Given the description of an element on the screen output the (x, y) to click on. 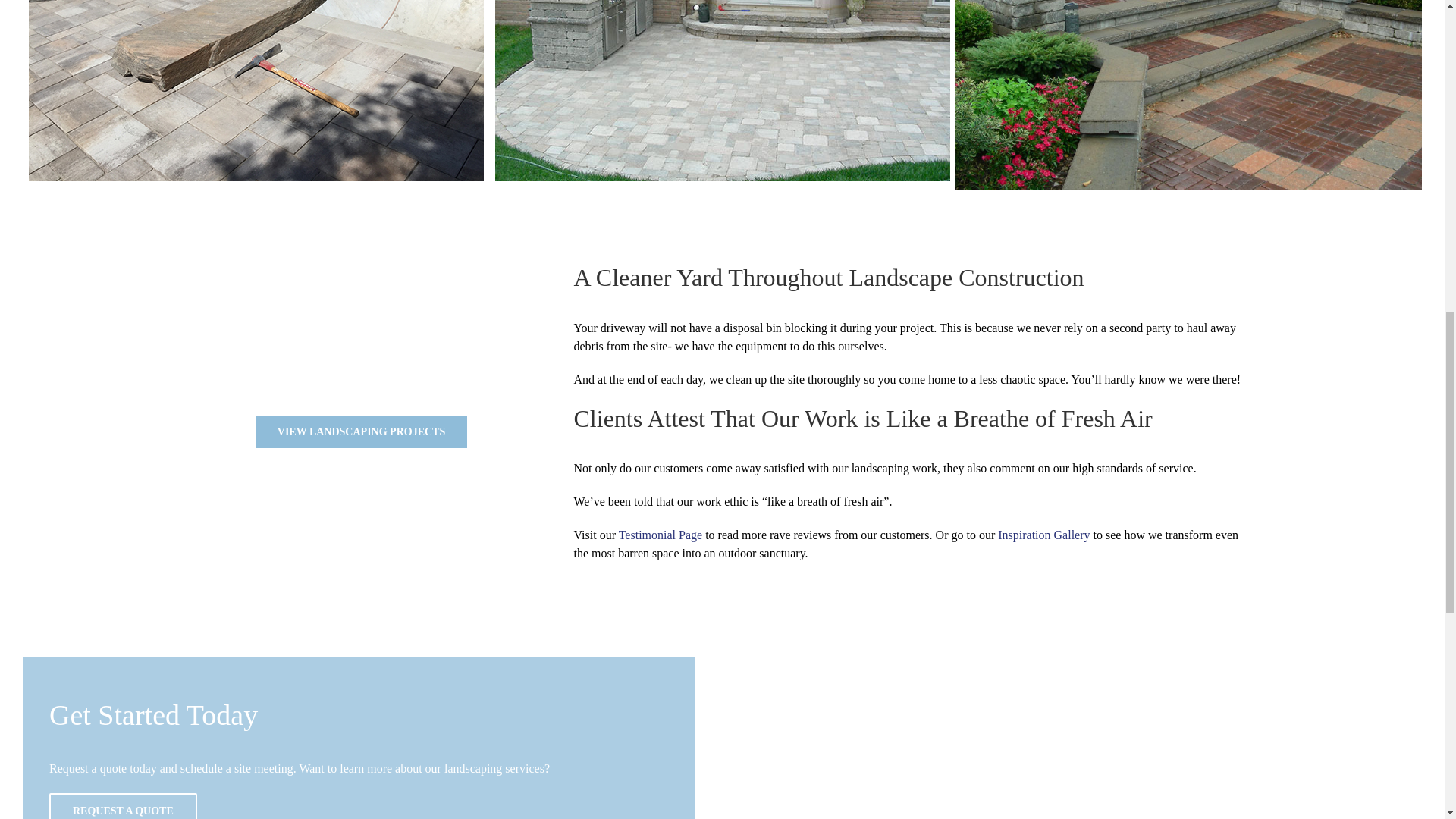
Testimonials (659, 534)
Inspirational Gallery (1043, 534)
